Given the description of an element on the screen output the (x, y) to click on. 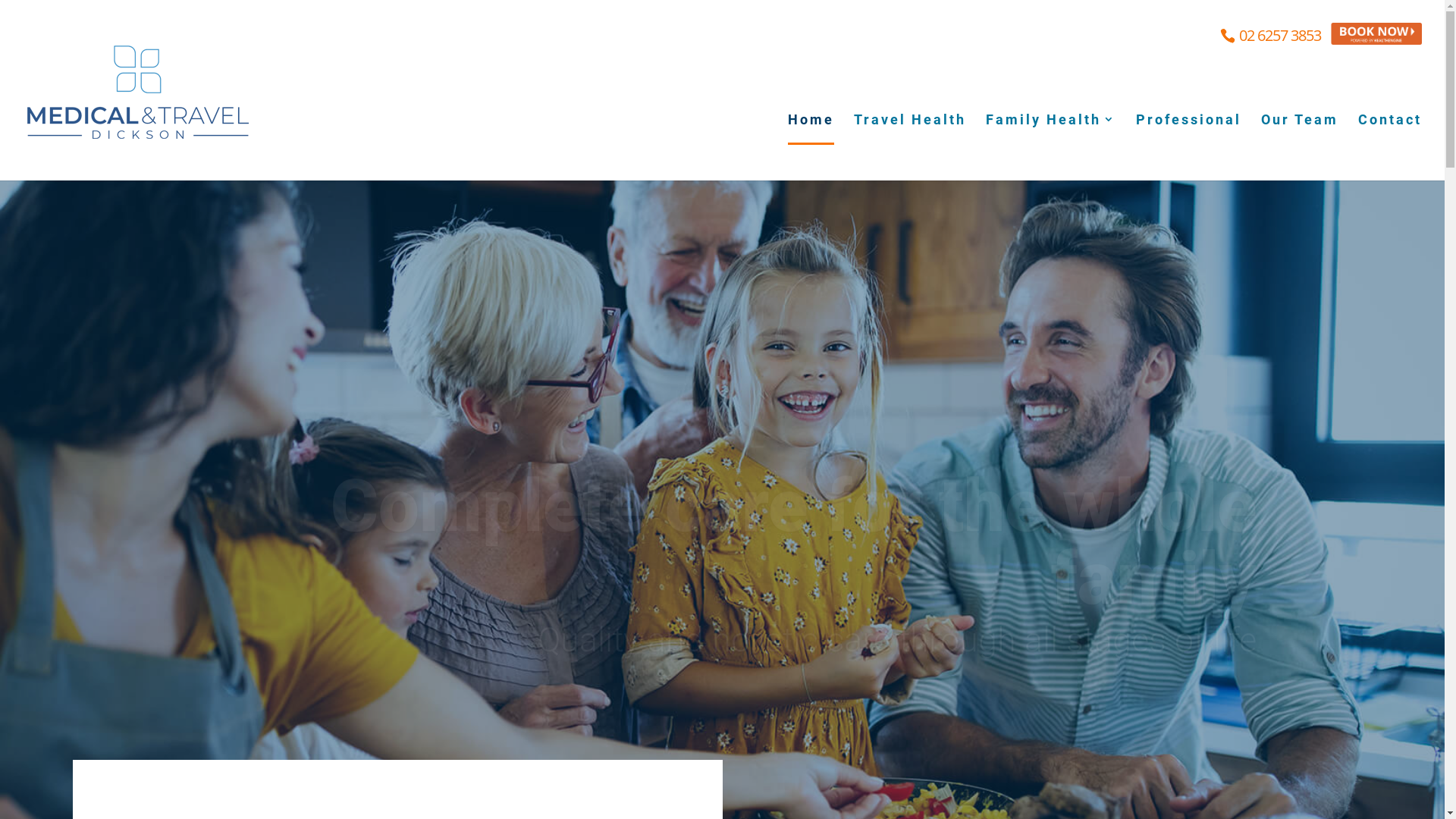
Travel Health Element type: text (909, 144)
Professional Element type: text (1188, 144)
Family Health Element type: text (1050, 144)
Contact Element type: text (1389, 144)
Home Element type: text (810, 144)
Our Team Element type: text (1299, 144)
